Given the description of an element on the screen output the (x, y) to click on. 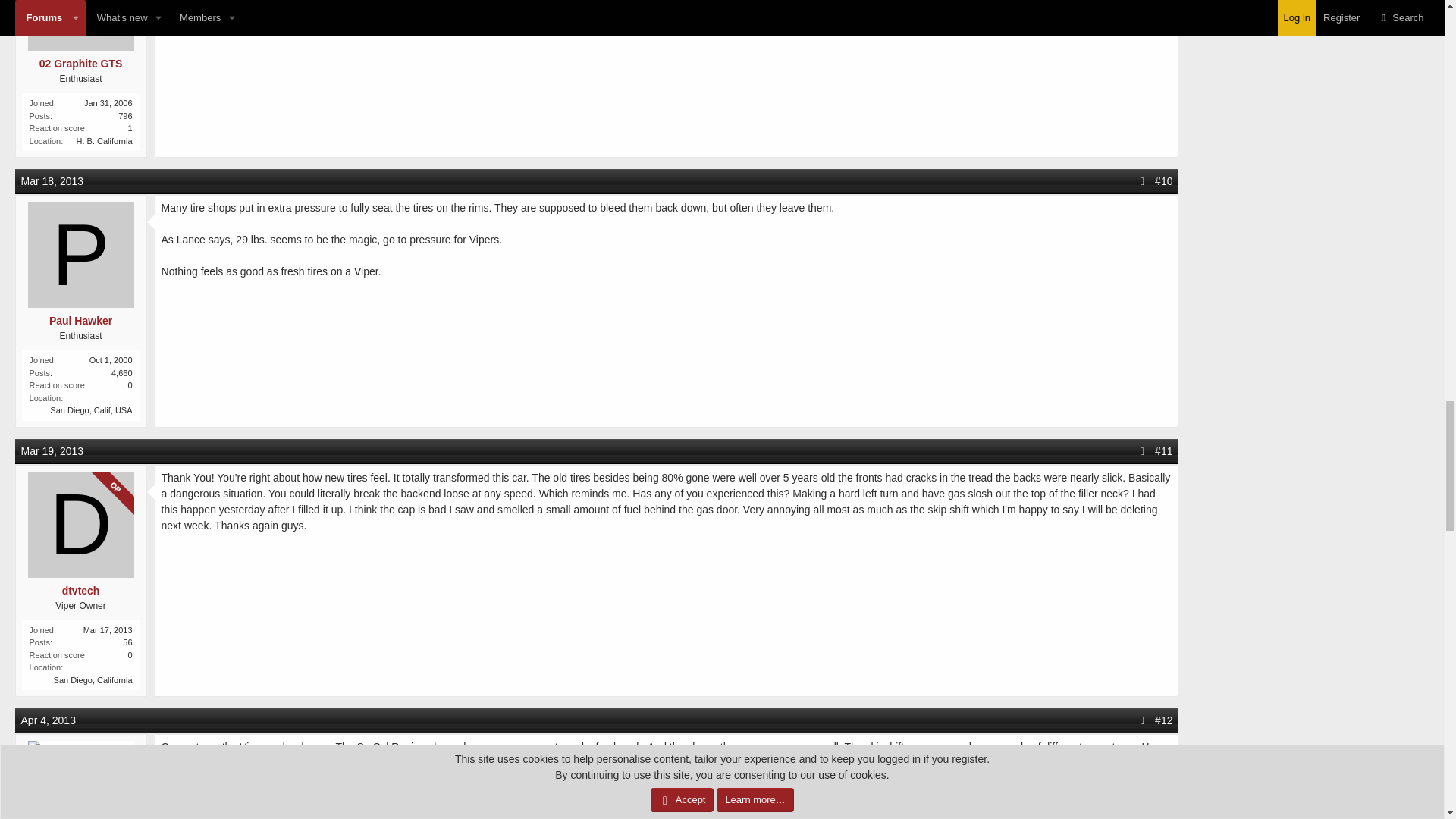
Mar 19, 2013 at 8:57 AM (52, 451)
Mar 18, 2013 at 4:44 PM (52, 181)
Apr 4, 2013 at 3:51 PM (48, 720)
